Given the description of an element on the screen output the (x, y) to click on. 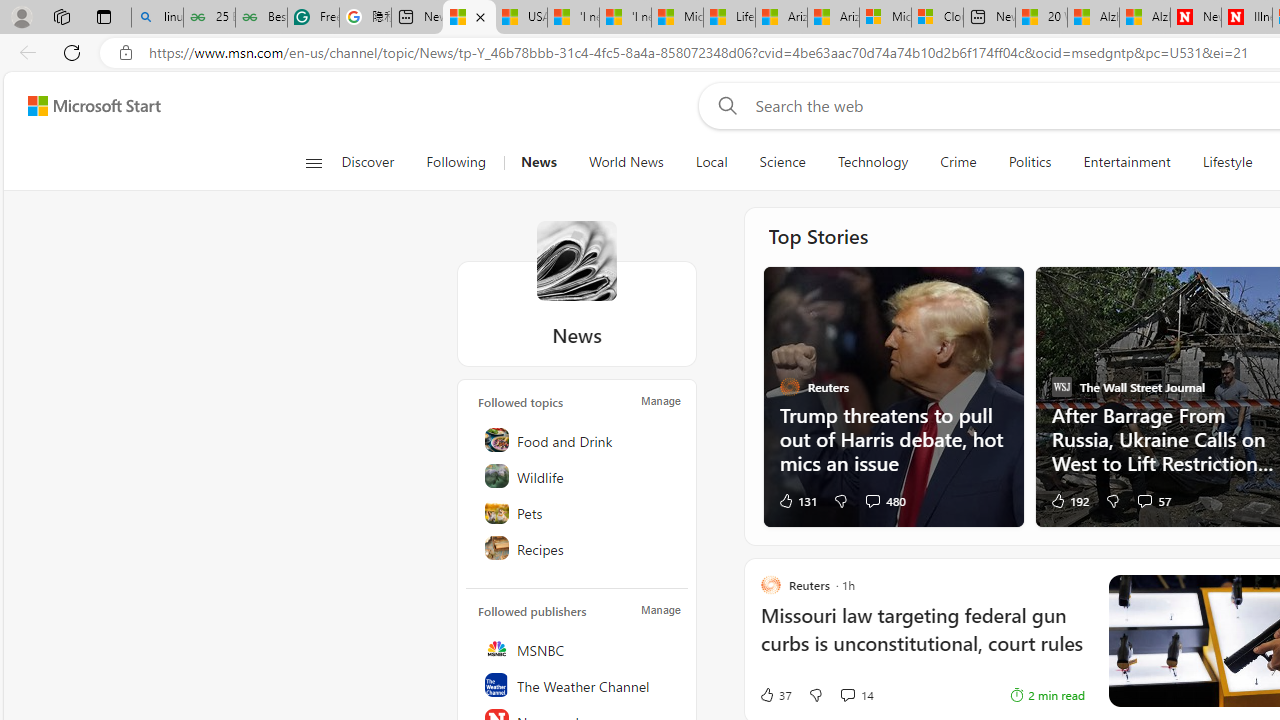
20 Ways to Boost Your Protein Intake at Every Meal (1041, 17)
View comments 14 Comment (847, 694)
View comments 480 Comment (884, 500)
Free AI Writing Assistance for Students | Grammarly (313, 17)
View comments 480 Comment (872, 500)
